Given the description of an element on the screen output the (x, y) to click on. 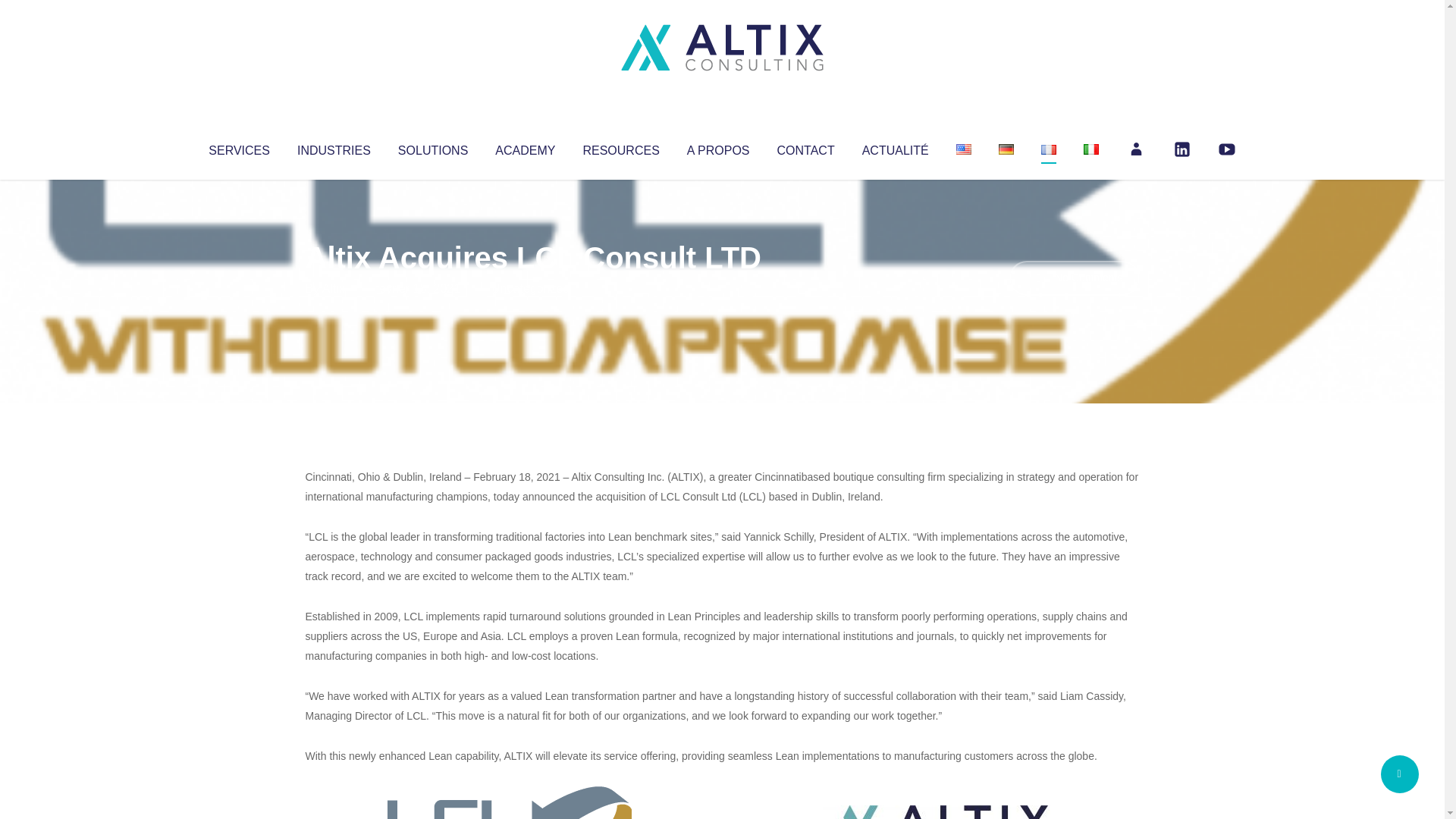
RESOURCES (620, 146)
INDUSTRIES (334, 146)
ACADEMY (524, 146)
No Comments (1073, 278)
SERVICES (238, 146)
A PROPOS (718, 146)
SOLUTIONS (432, 146)
Articles par Altix (333, 287)
Altix (333, 287)
Uncategorized (530, 287)
